Given the description of an element on the screen output the (x, y) to click on. 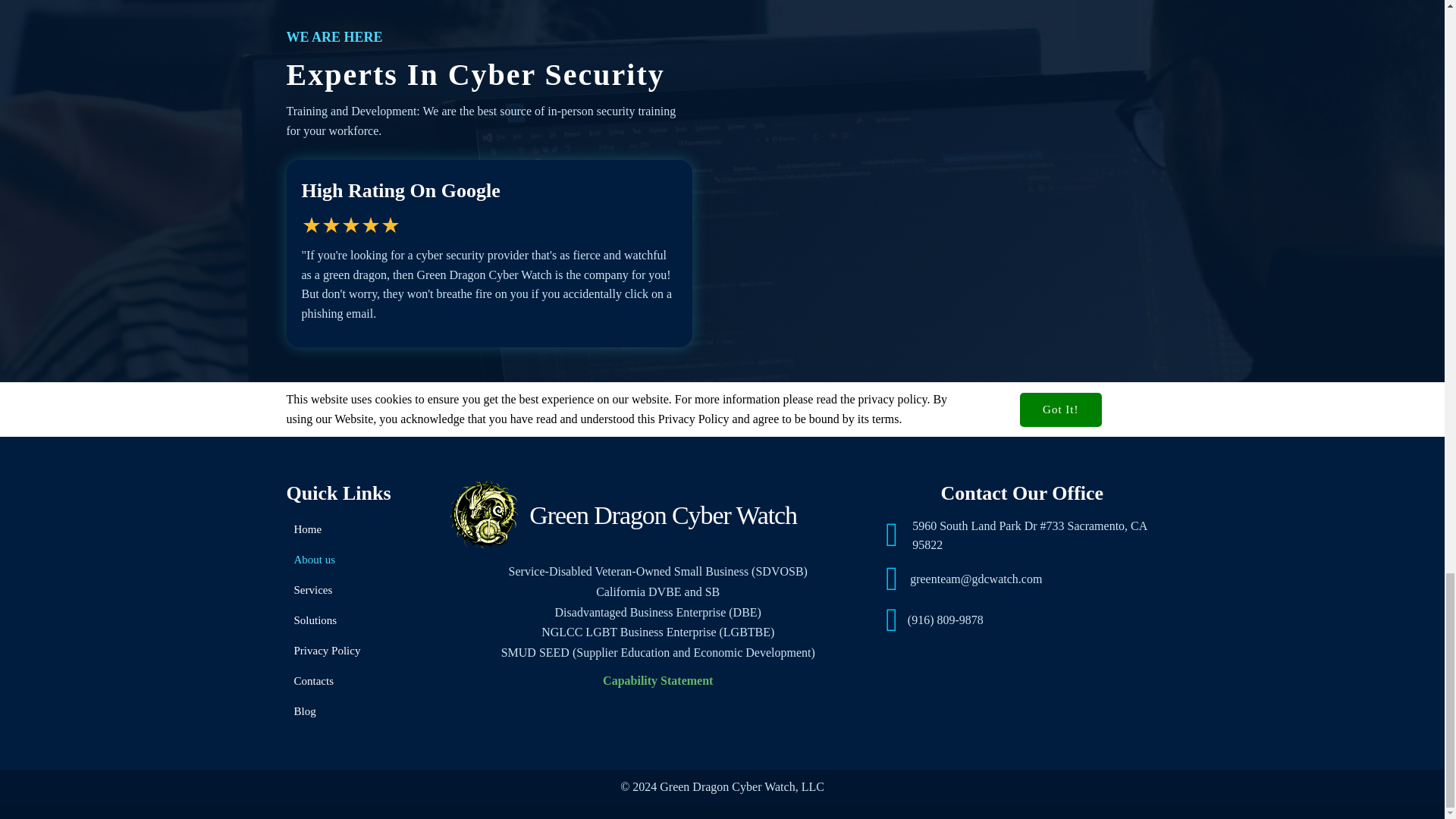
About us (358, 559)
Contacts (358, 680)
Green Dragon Cyber Watch (657, 515)
Blog (358, 710)
LOGO (483, 515)
Capability Statement (657, 680)
Services (358, 589)
Privacy Policy (358, 650)
Home (358, 529)
Solutions (358, 620)
